Given the description of an element on the screen output the (x, y) to click on. 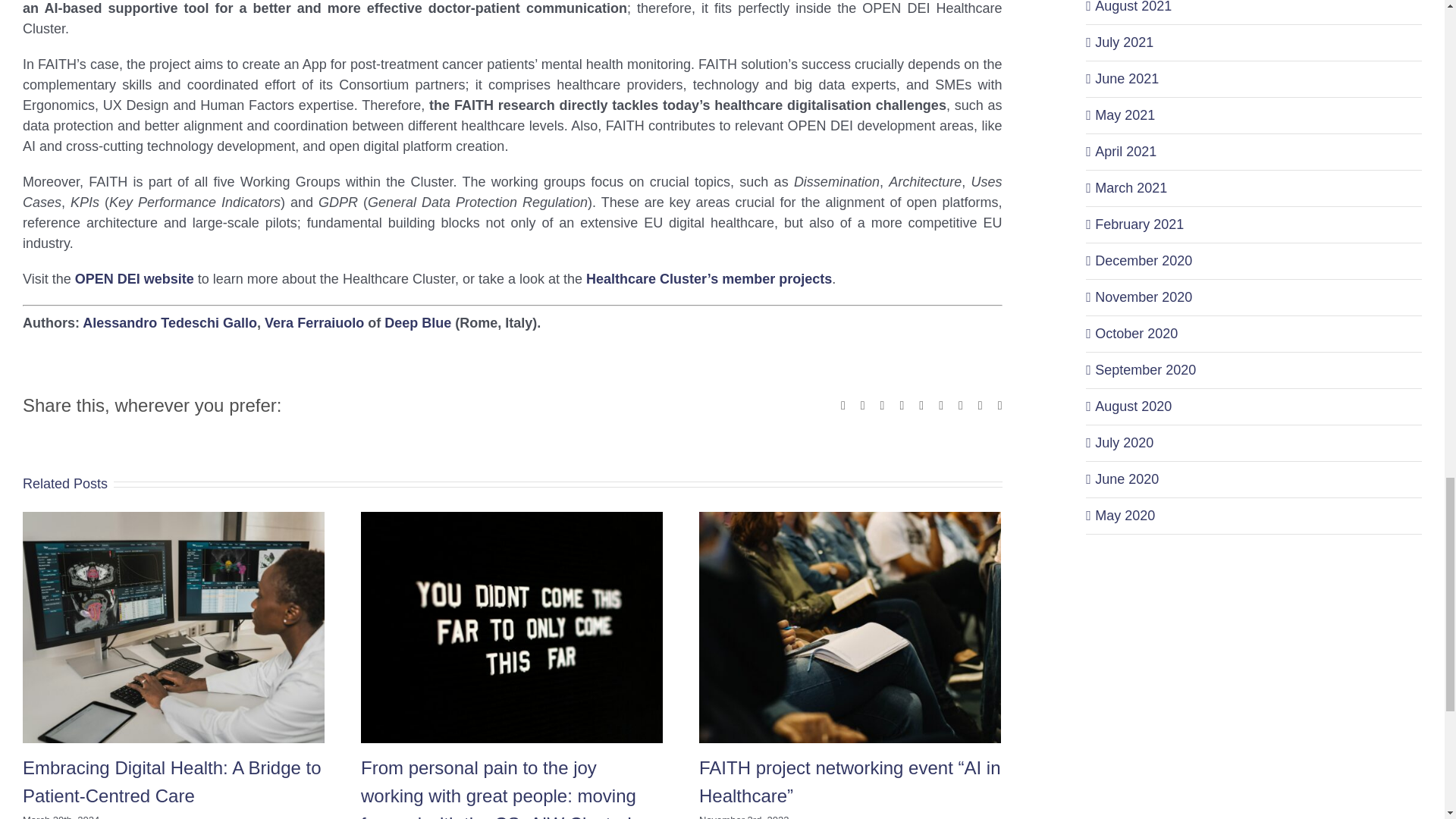
Alessandro Tedeschi Gallo (169, 322)
OPEN DEI website (134, 278)
